Given the description of an element on the screen output the (x, y) to click on. 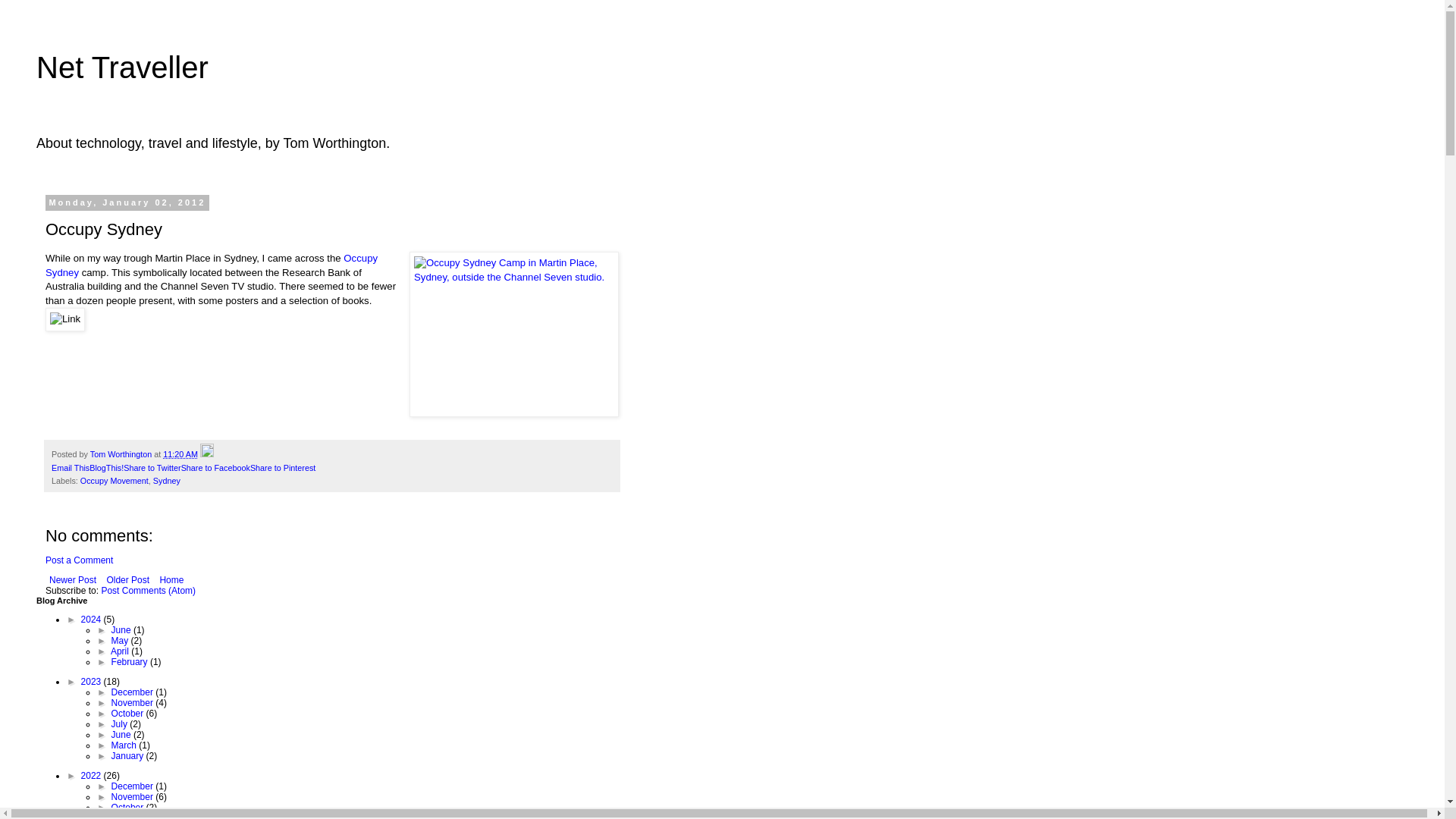
Newer Post (72, 579)
Email This (69, 467)
Home (171, 579)
Edit Post (207, 453)
June (122, 629)
Older Post (126, 579)
2024 (92, 619)
BlogThis! (105, 467)
author profile (122, 453)
Occupy Movement (114, 480)
BlogThis! (105, 467)
11:20 AM (180, 453)
2023 (92, 681)
Share to Pinterest (282, 467)
Sydney (166, 480)
